Given the description of an element on the screen output the (x, y) to click on. 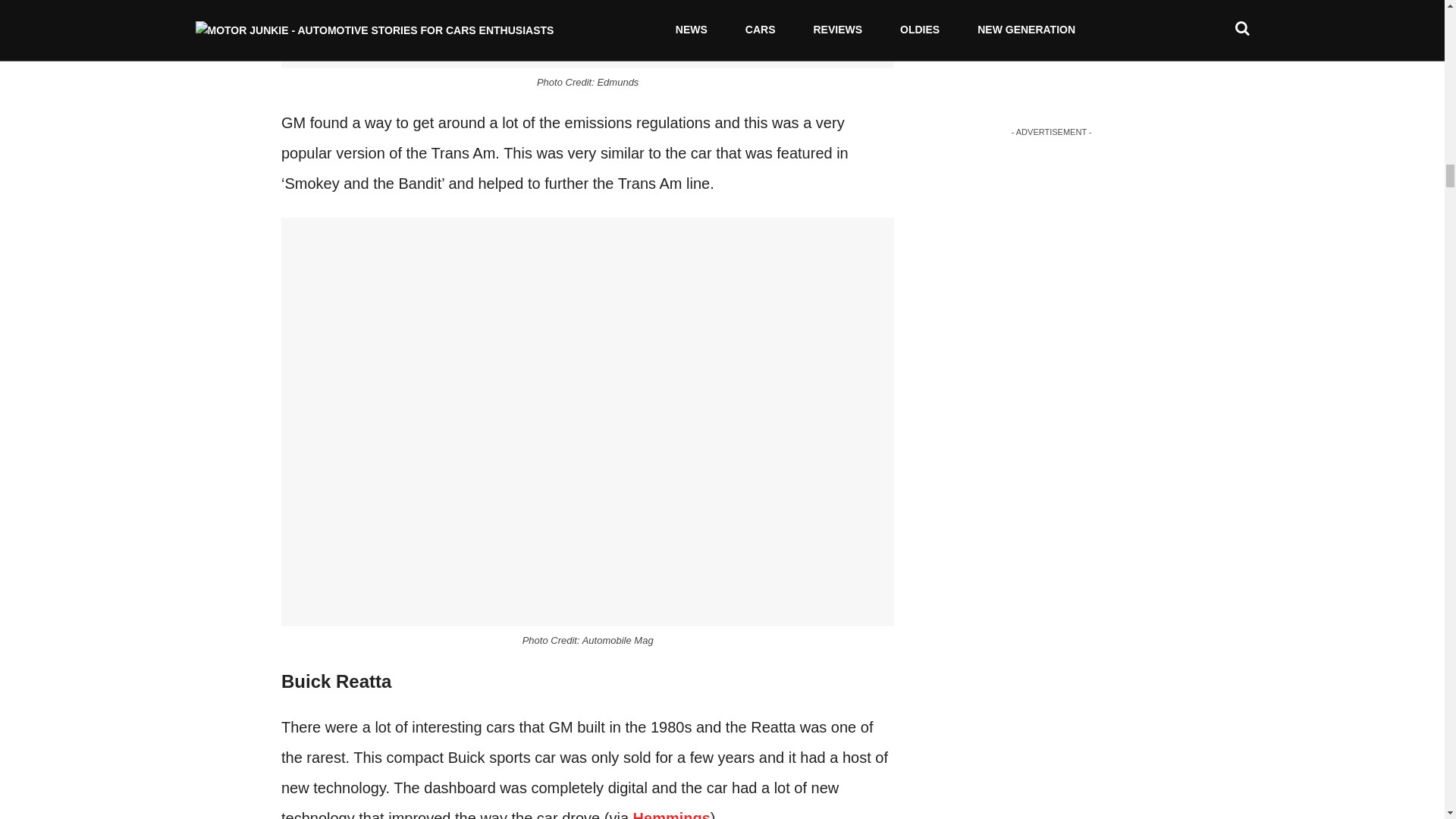
Hemmings (671, 814)
